Given the description of an element on the screen output the (x, y) to click on. 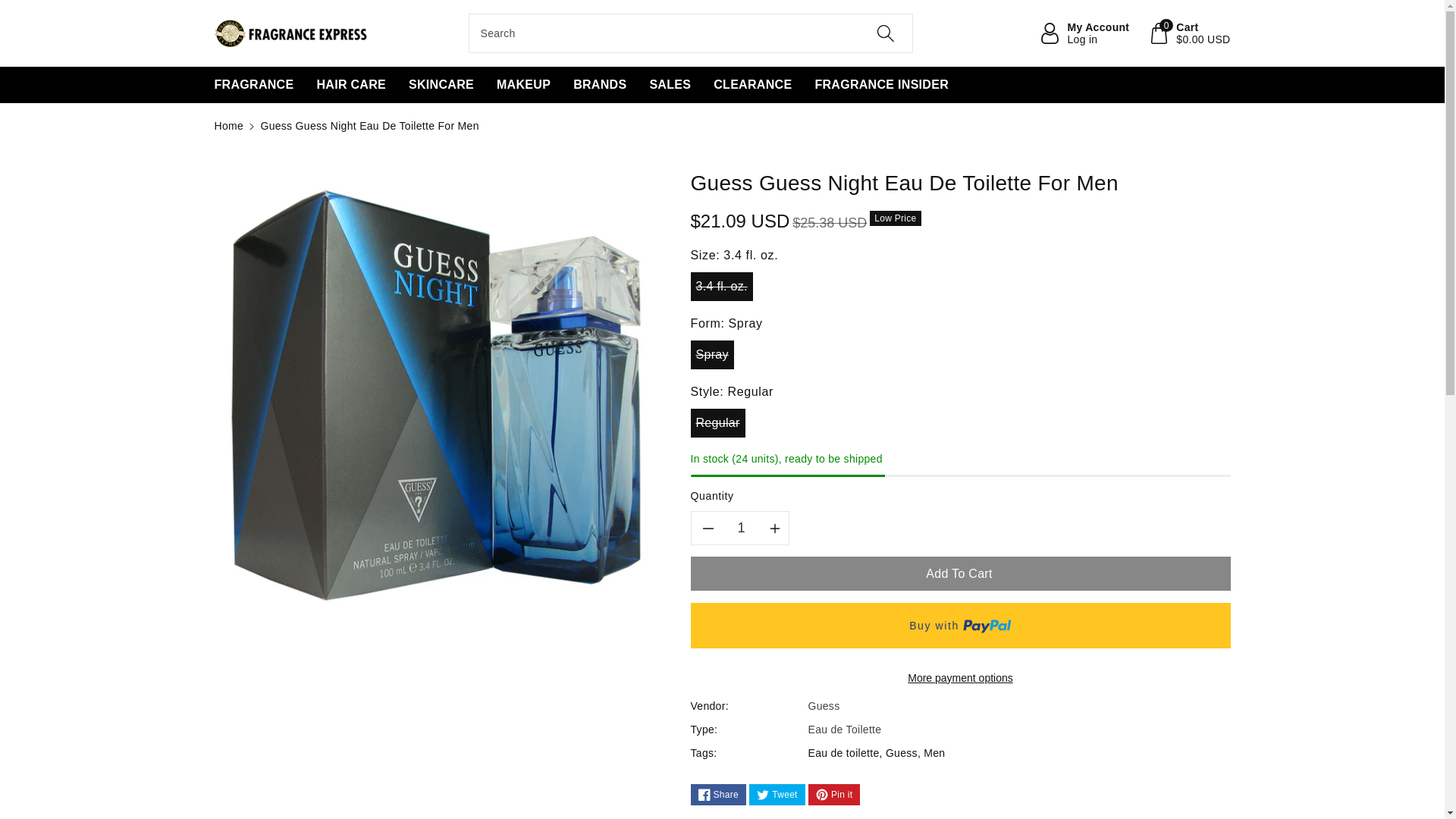
SALES (669, 85)
Skip To Content (8, 8)
FRAGRANCE INSIDER (881, 85)
3.4 fl. oz. (1084, 32)
SKINCARE (752, 85)
MAKEUP (441, 85)
1 (523, 85)
BRANDS (741, 528)
FRAGRANCE (599, 85)
Home (254, 85)
Skip To Product Information (228, 125)
Spray (222, 178)
